Given the description of an element on the screen output the (x, y) to click on. 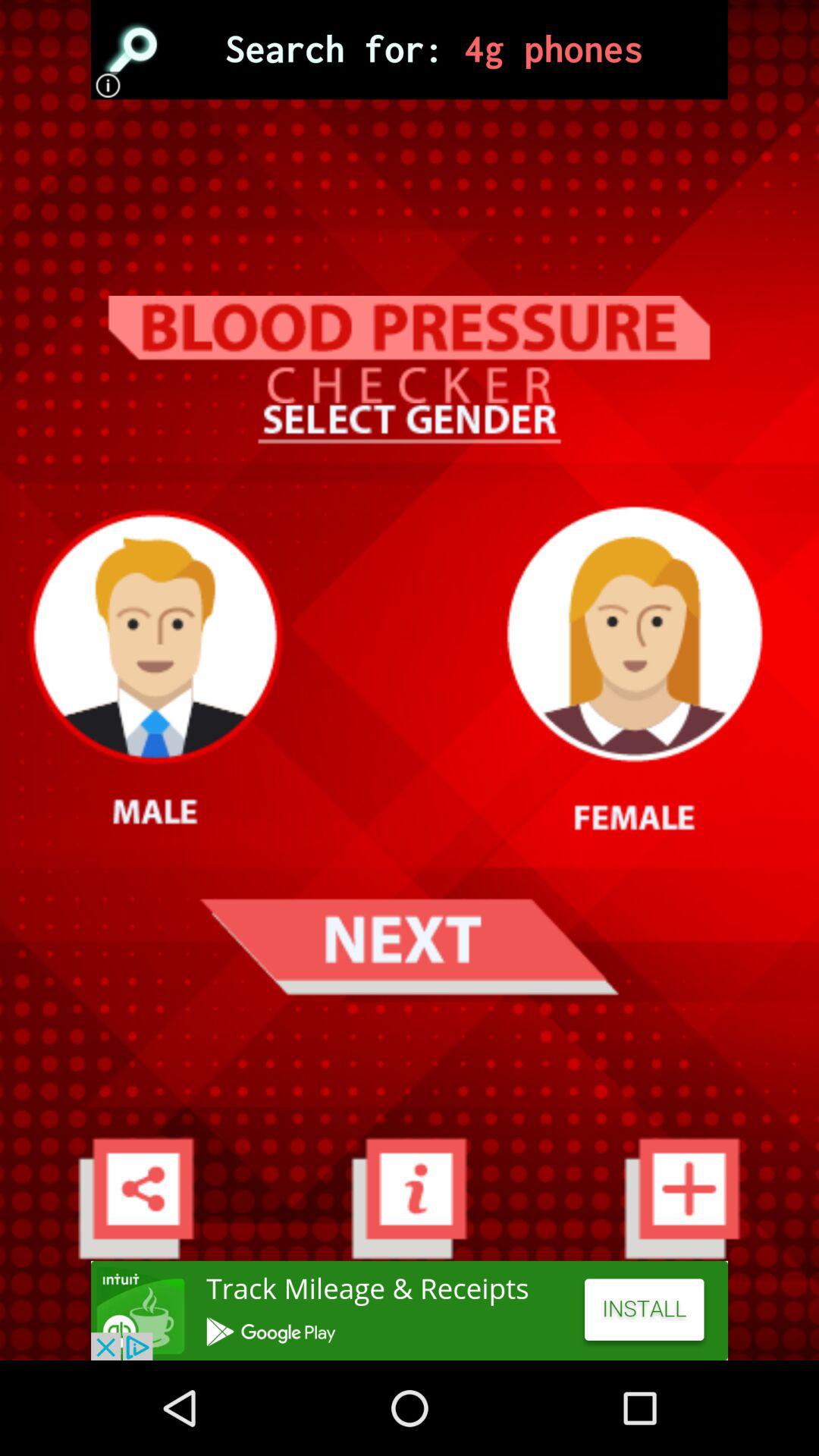
setting option (135, 1197)
